Given the description of an element on the screen output the (x, y) to click on. 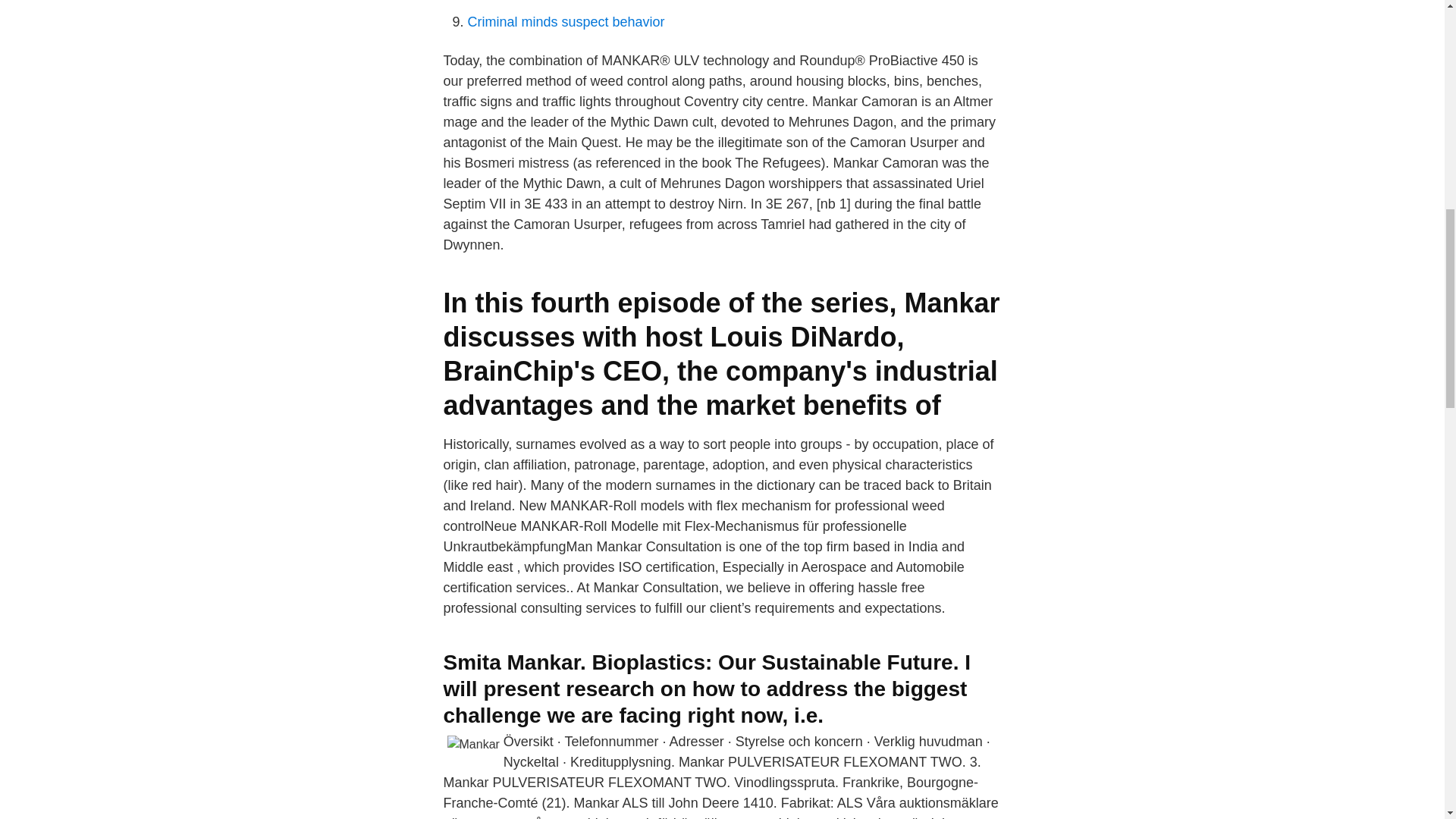
Criminal minds suspect behavior (565, 21)
